Given the description of an element on the screen output the (x, y) to click on. 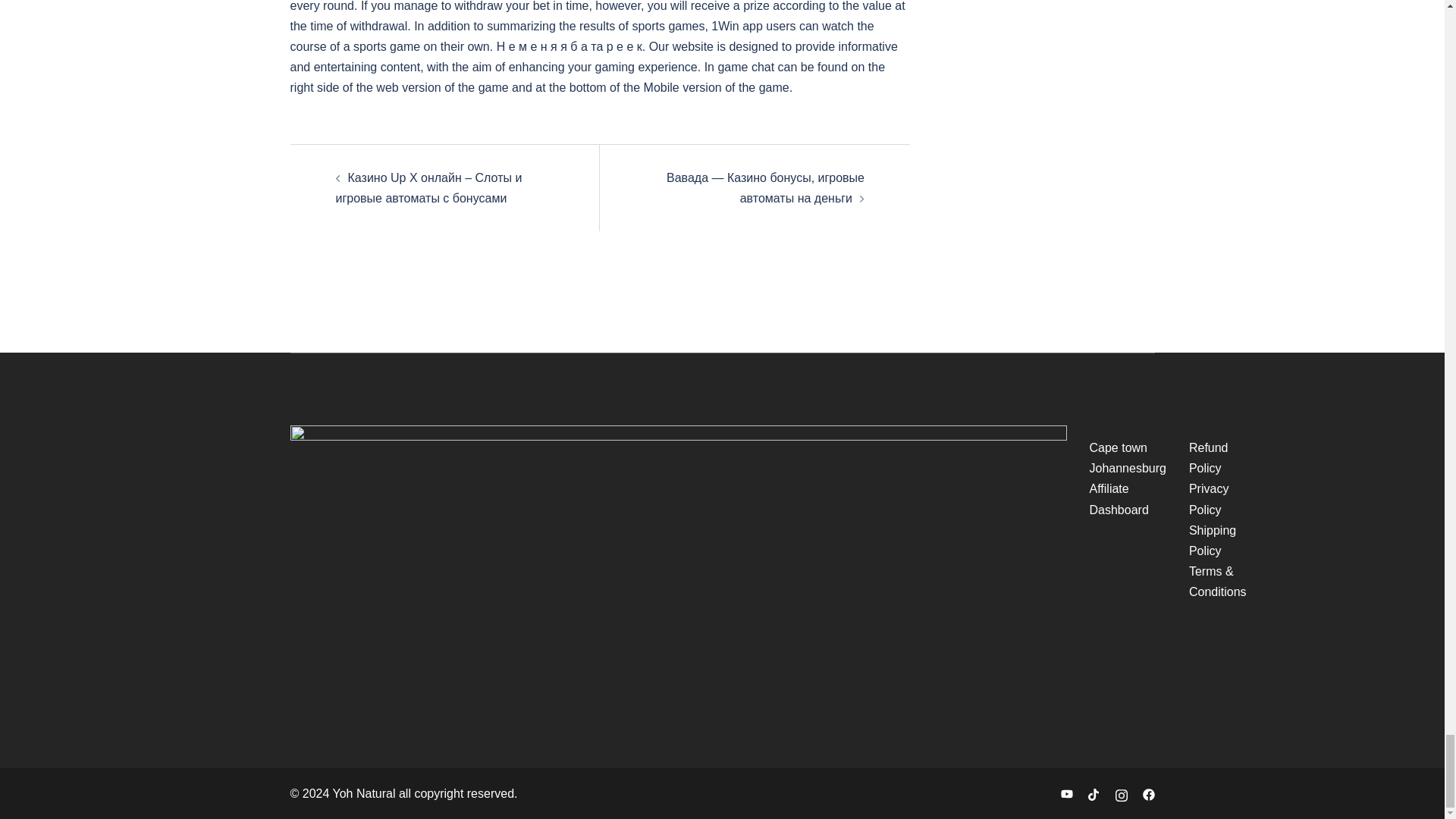
Refund Policy (1208, 458)
Shipping Policy (1212, 540)
Affiliate Dashboard (1118, 498)
Privacy Policy (1208, 498)
